Given the description of an element on the screen output the (x, y) to click on. 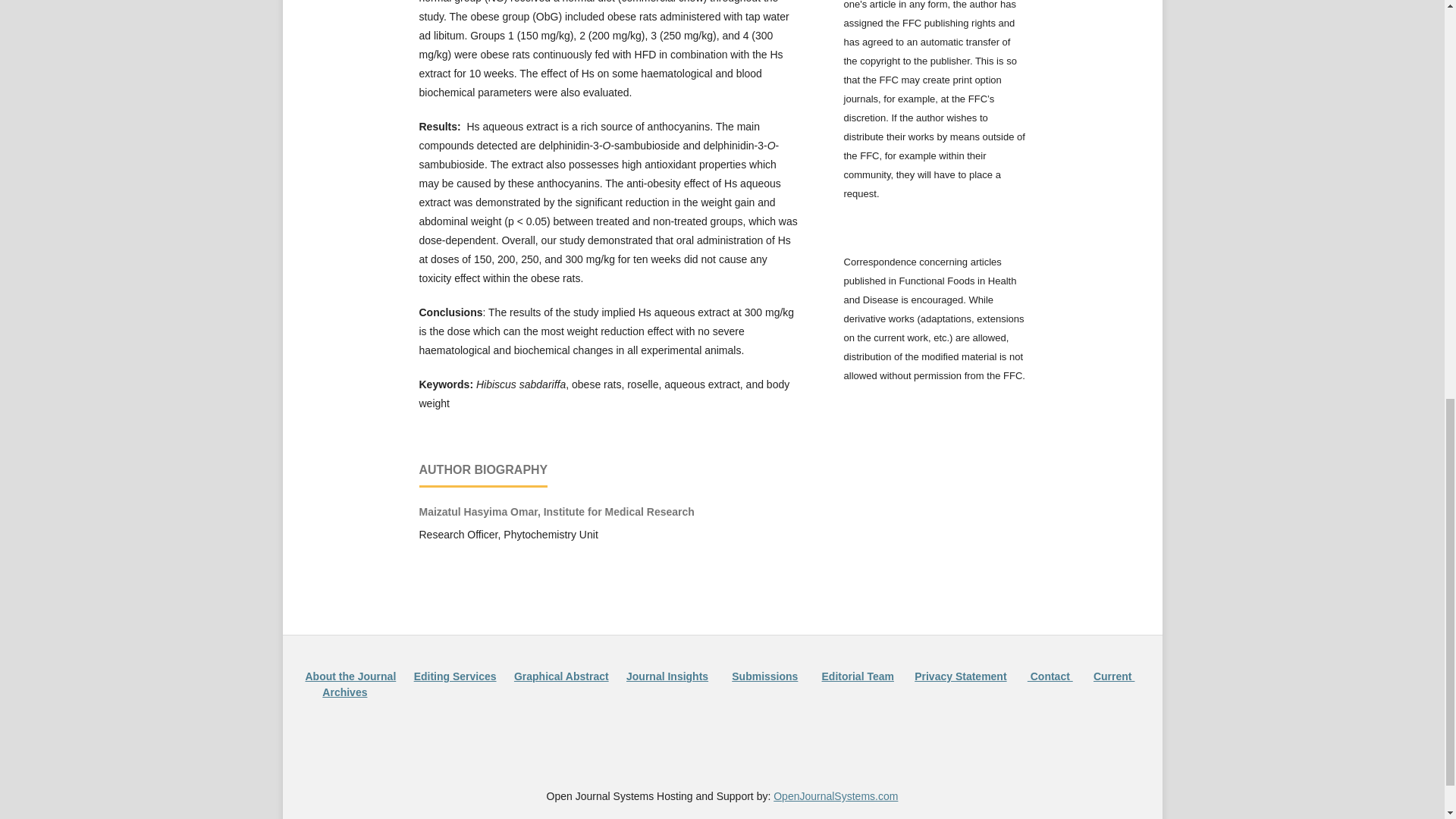
Submissions (764, 676)
About the Journal (350, 676)
Journal Insights (666, 676)
Editing Services (454, 676)
Graphical Abstract (560, 676)
